Given the description of an element on the screen output the (x, y) to click on. 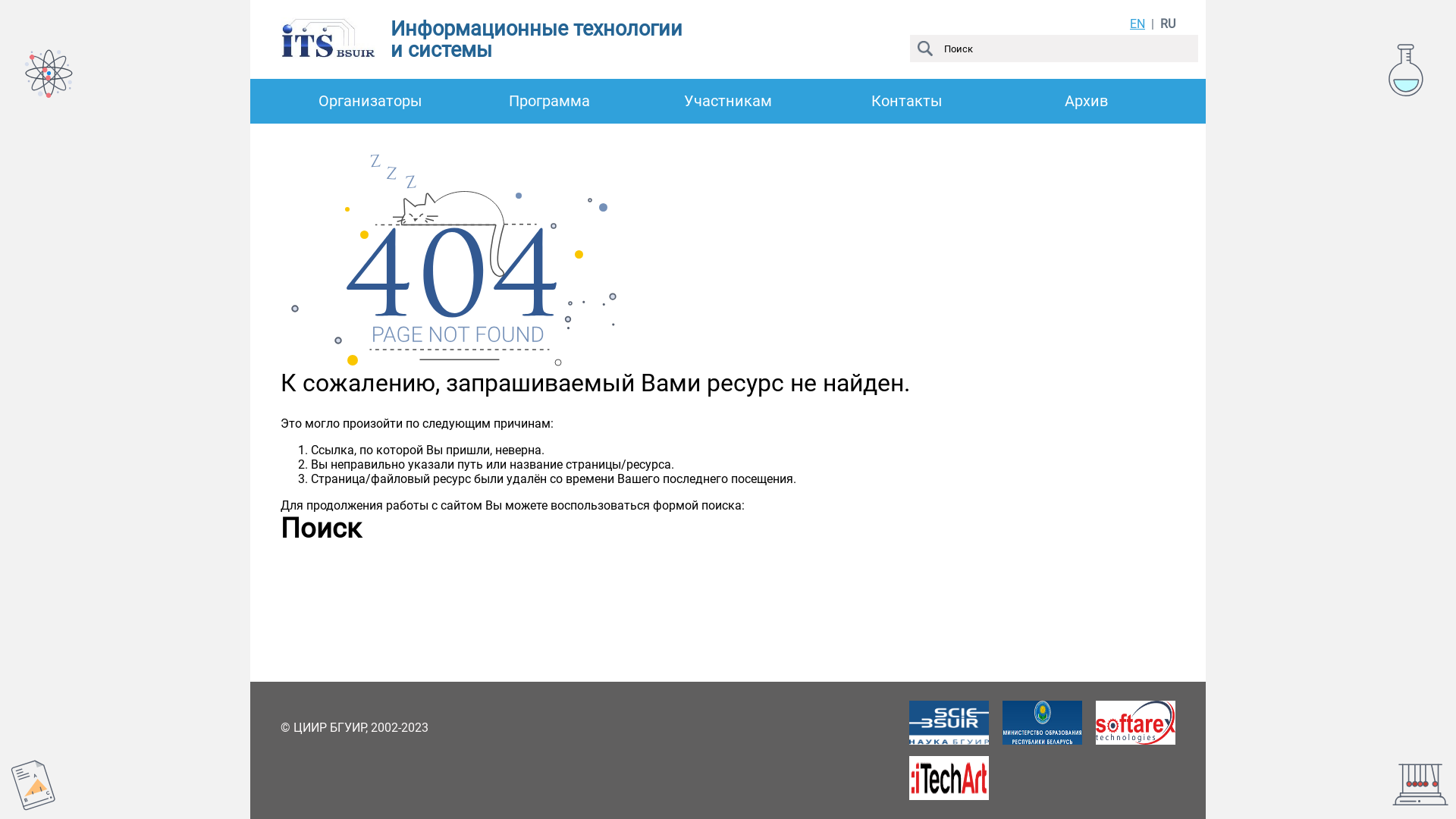
EN Element type: text (1137, 23)
  Element type: text (3, 7)
